Given the description of an element on the screen output the (x, y) to click on. 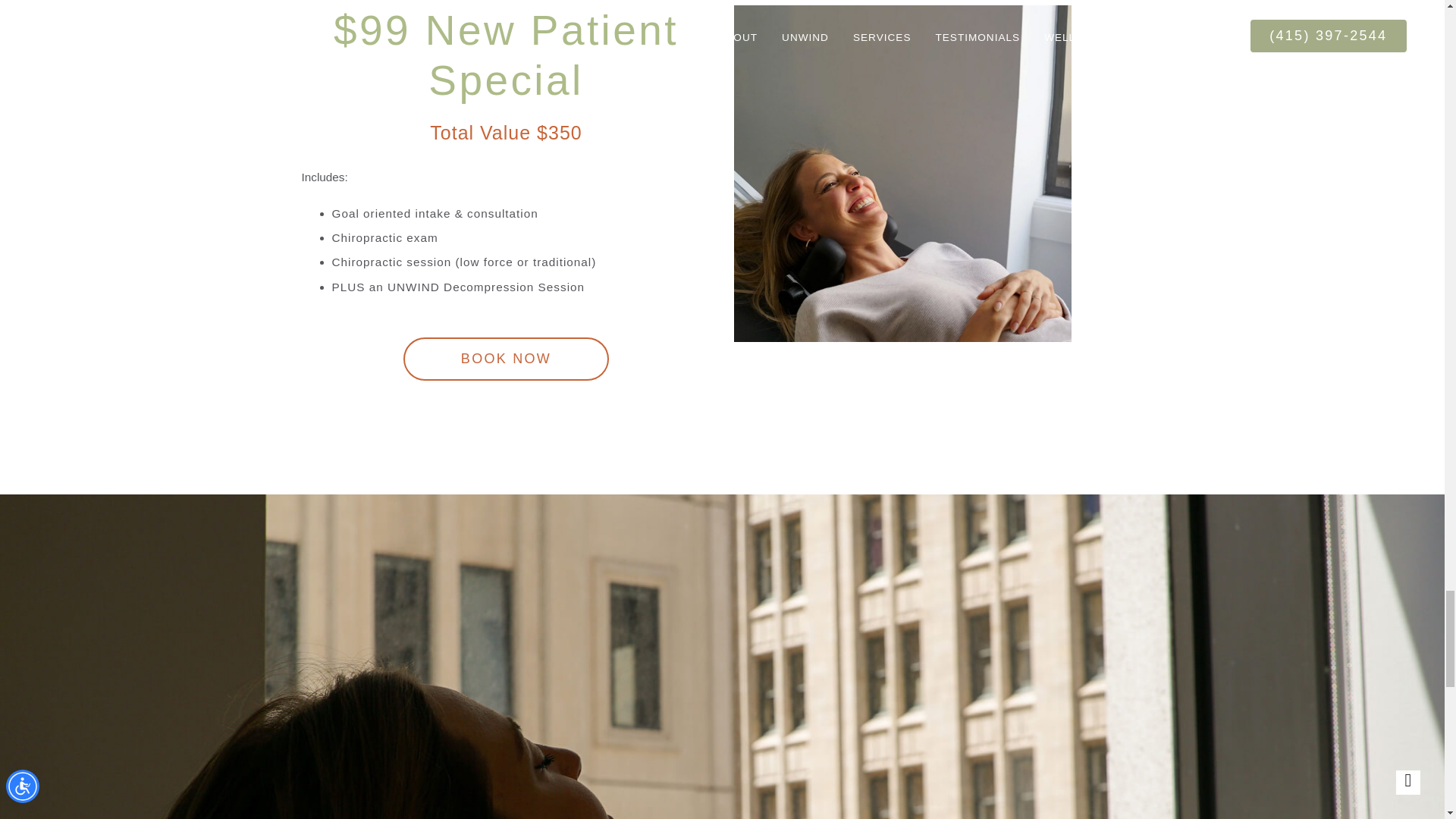
BOOK NOW (505, 358)
